Given the description of an element on the screen output the (x, y) to click on. 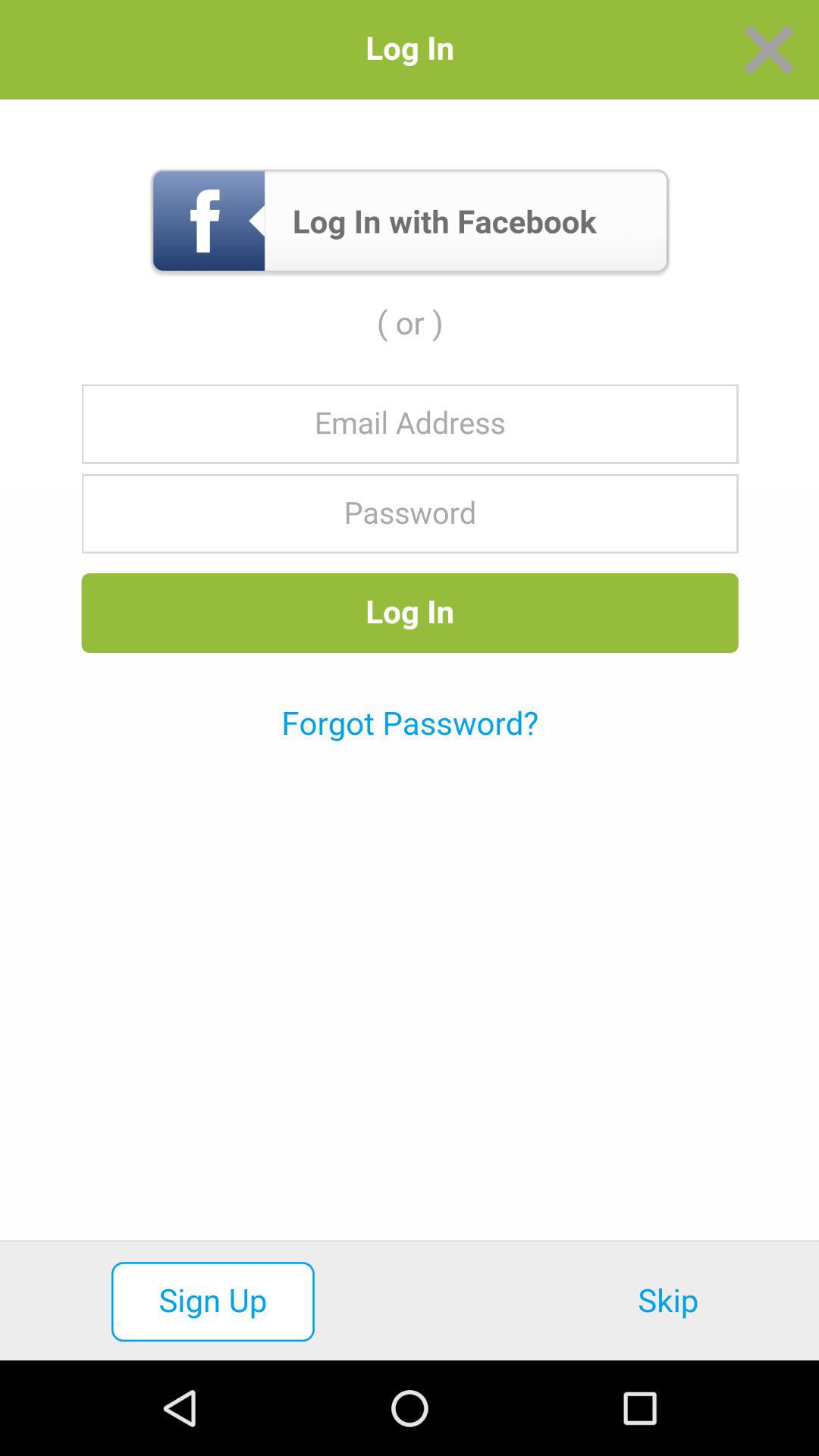
close the tab (769, 49)
